Given the description of an element on the screen output the (x, y) to click on. 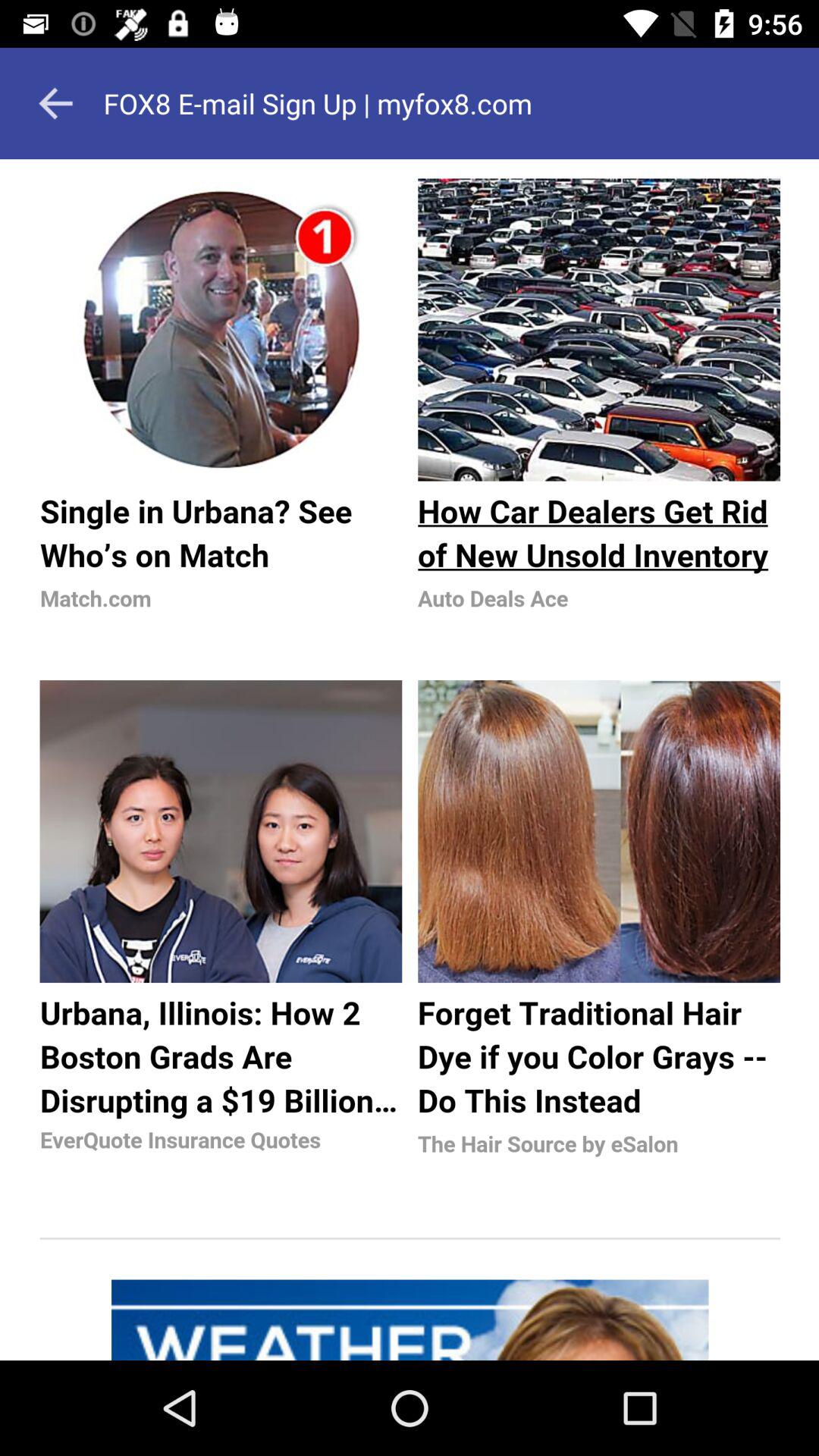
go to advertisement (409, 759)
